Given the description of an element on the screen output the (x, y) to click on. 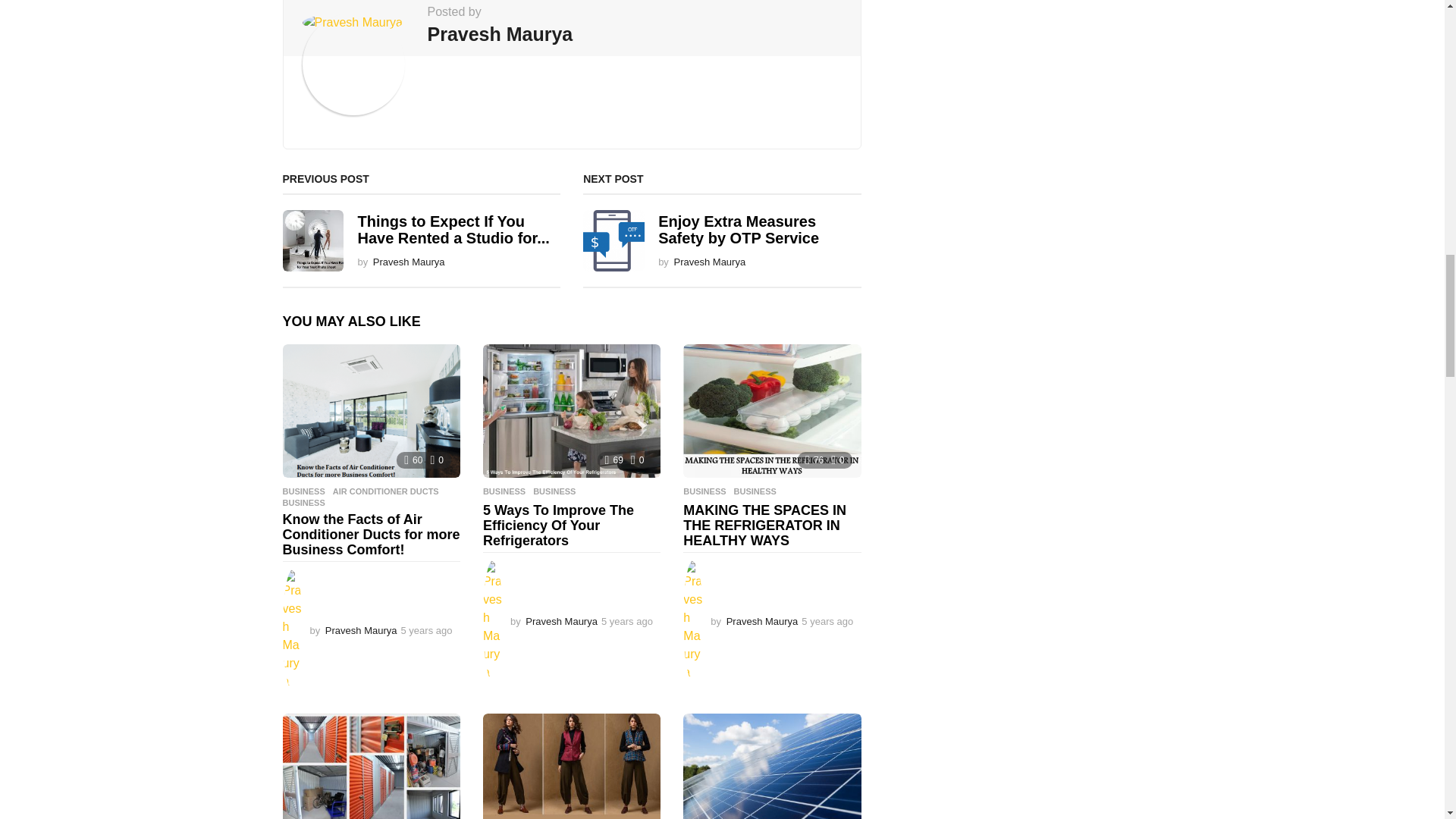
Pravesh Maurya (500, 33)
5 Ways To Improve The Efficiency Of Your Refrigerators (572, 410)
Winter Layering Made Easy! (572, 766)
Pravesh Maurya (408, 261)
Solar System: Why to Have One? (771, 766)
Things to Expect If You Have Rented a Studio for... (452, 228)
MAKING THE SPACES IN THE REFRIGERATOR IN HEALTHY WAYS (771, 410)
Storage Units for All of Your Spatial Needs (371, 766)
